Given the description of an element on the screen output the (x, y) to click on. 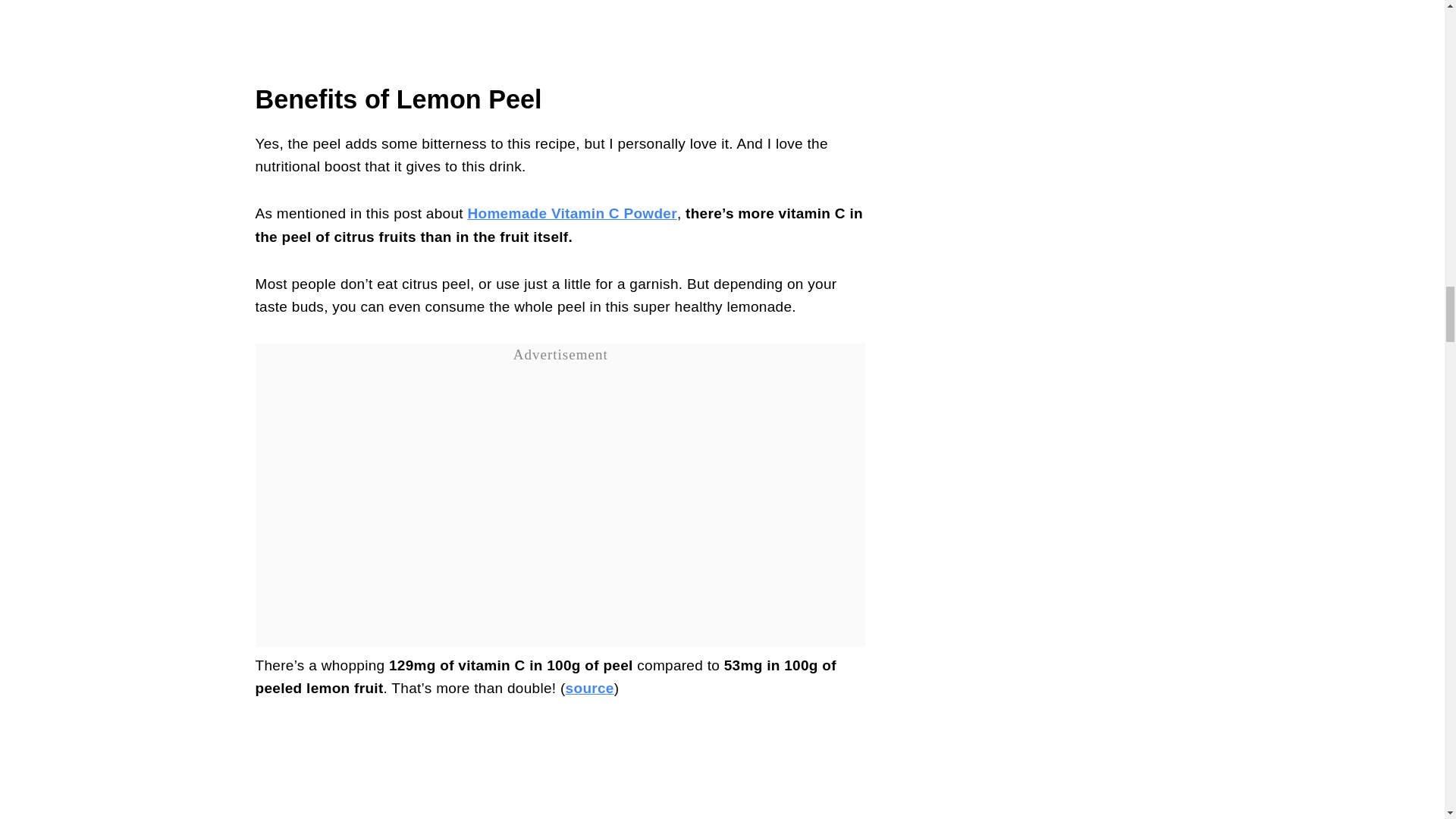
Homemade Vitamin C Powder (572, 213)
blender lemonade (560, 771)
source (590, 688)
